Given the description of an element on the screen output the (x, y) to click on. 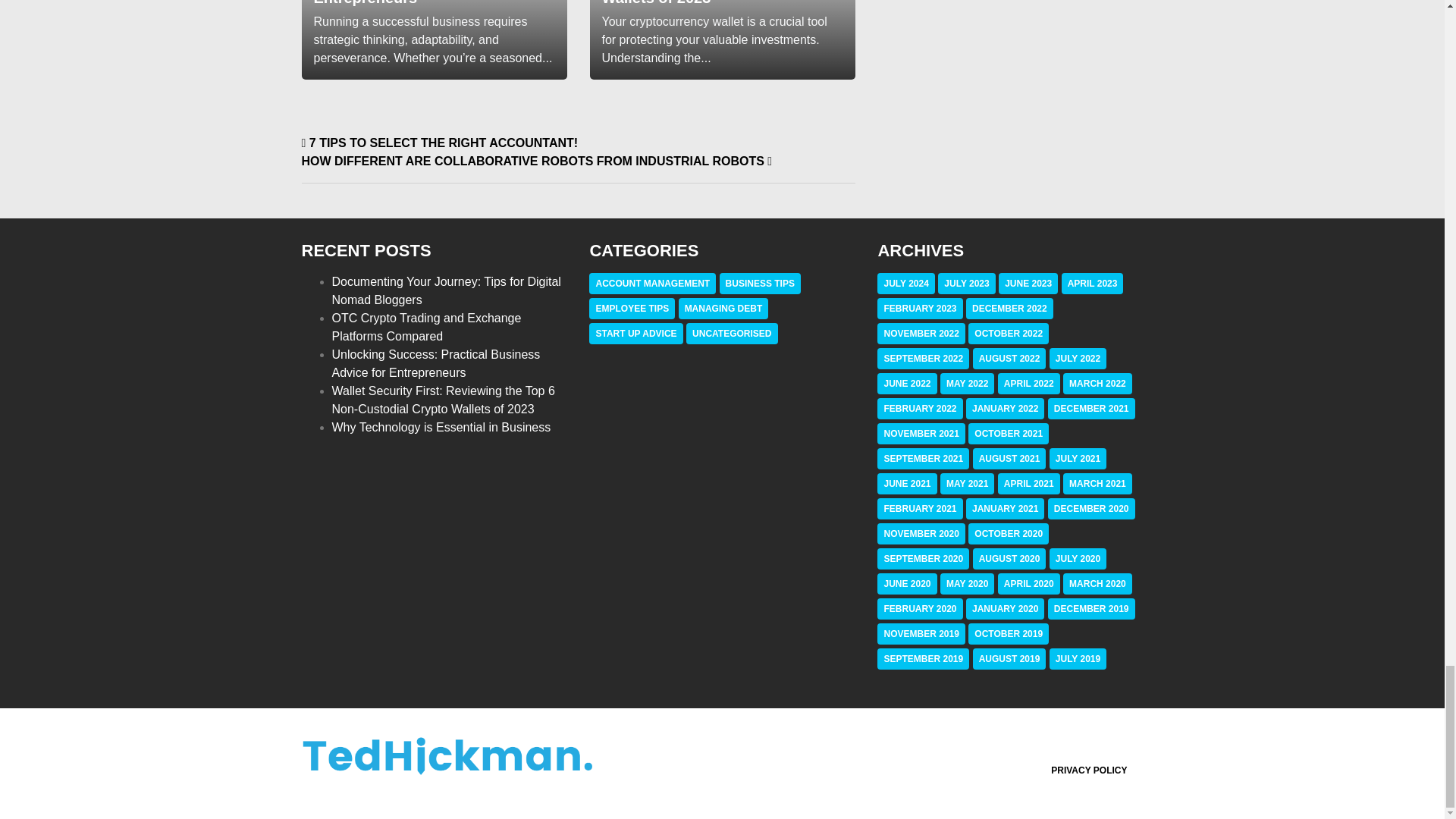
ACCOUNT MANAGEMENT (652, 283)
BUSINESS TIPS (759, 283)
Why Technology is Essential in Business (441, 427)
OTC Crypto Trading and Exchange Platforms Compared (426, 327)
EMPLOYEE TIPS (631, 308)
 7 TIPS TO SELECT THE RIGHT ACCOUNTANT! (439, 142)
Documenting Your Journey: Tips for Digital Nomad Bloggers (445, 290)
